Given the description of an element on the screen output the (x, y) to click on. 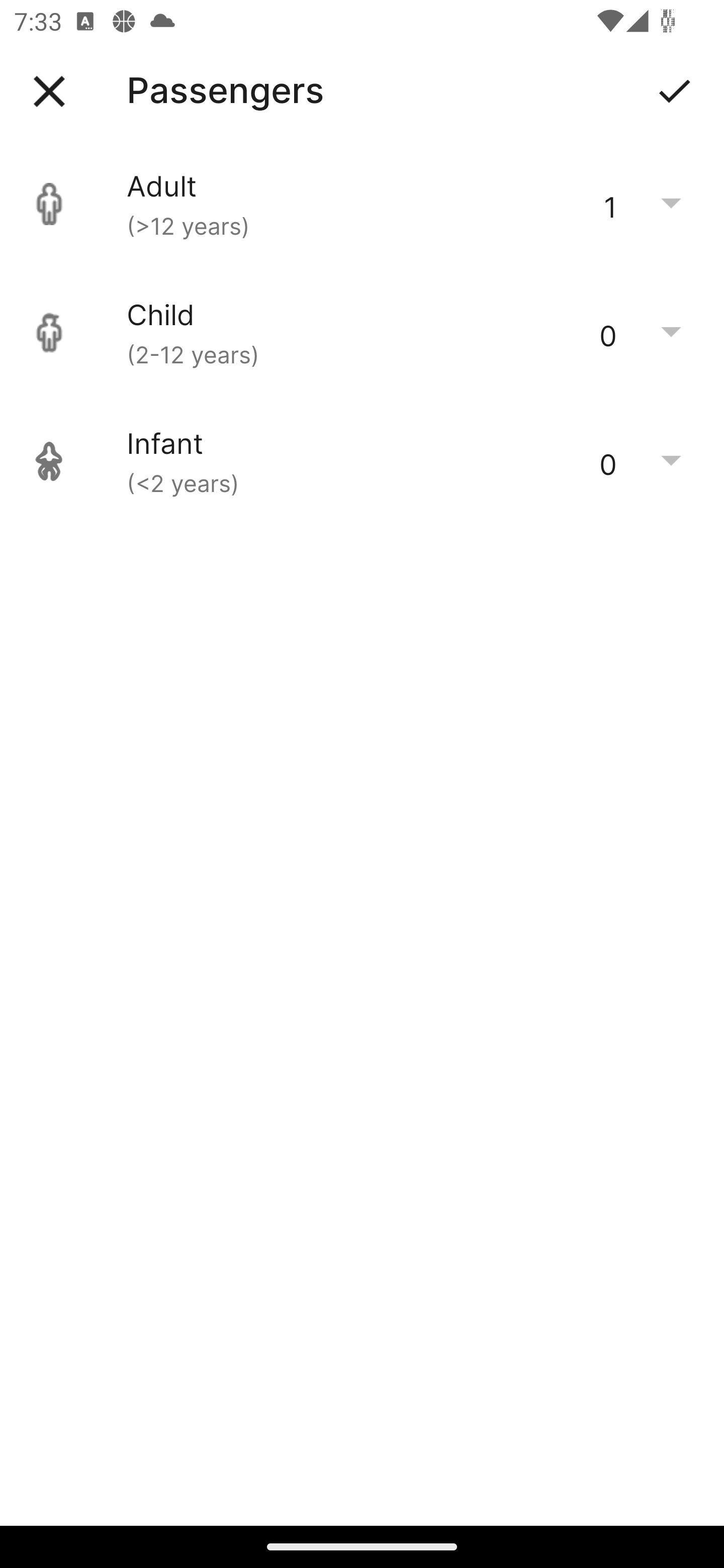
Adult (>12 years) 1 (362, 204)
Child (2-12 years) 0 (362, 332)
Infant (<2 years) 0 (362, 461)
